Given the description of an element on the screen output the (x, y) to click on. 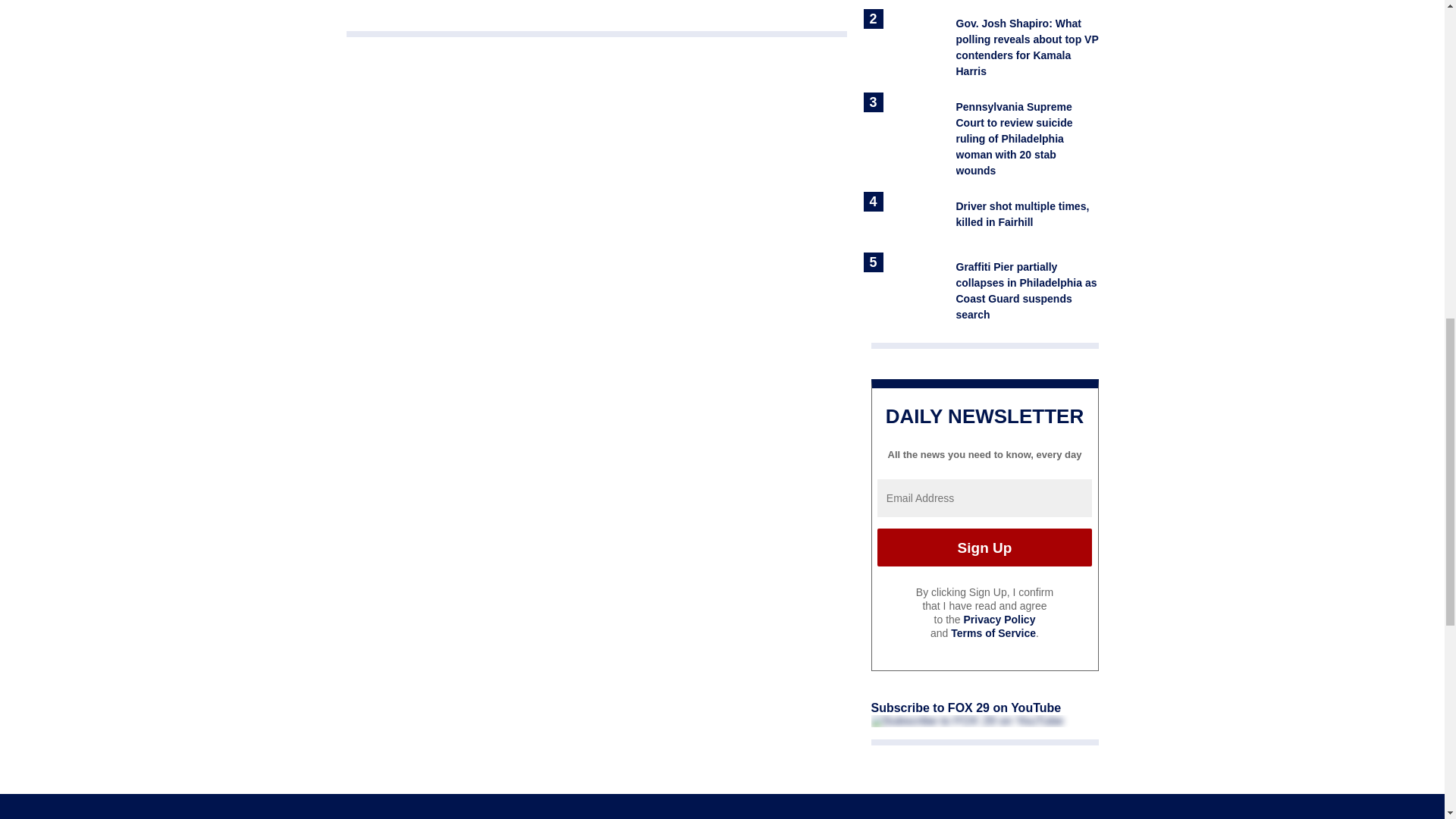
Sign Up (984, 547)
